Given the description of an element on the screen output the (x, y) to click on. 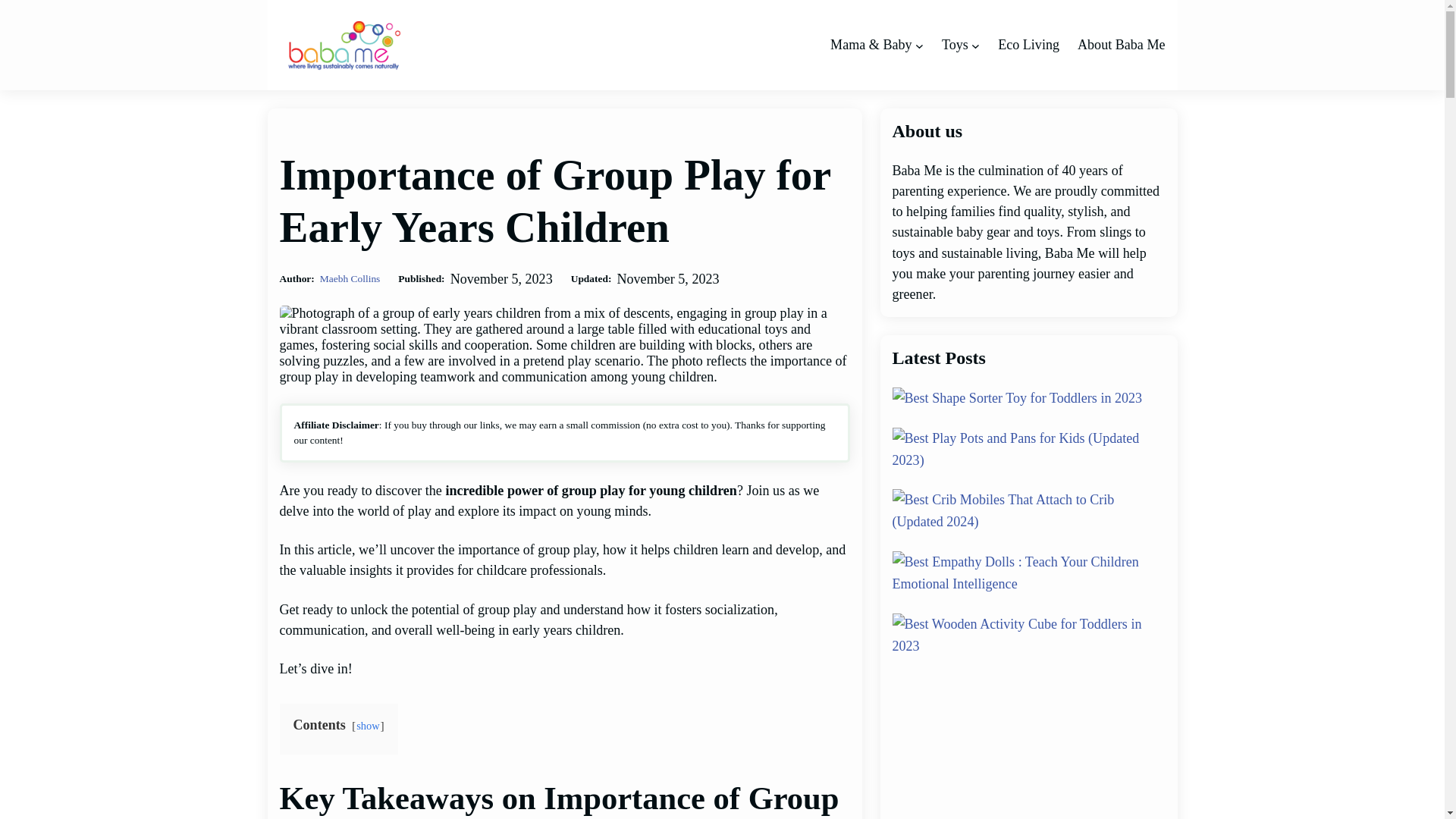
Toys (955, 45)
Importance of Group Play for Early Years Children 1 (563, 344)
About Baba Me (1120, 45)
show (368, 725)
Best Shape Sorter Toy for Toddlers in 2023 4 (1016, 398)
Maebh Collins (350, 278)
Best Wooden Activity Cube for Toddlers in 2023 8 (1027, 635)
Eco Living (1028, 45)
